Given the description of an element on the screen output the (x, y) to click on. 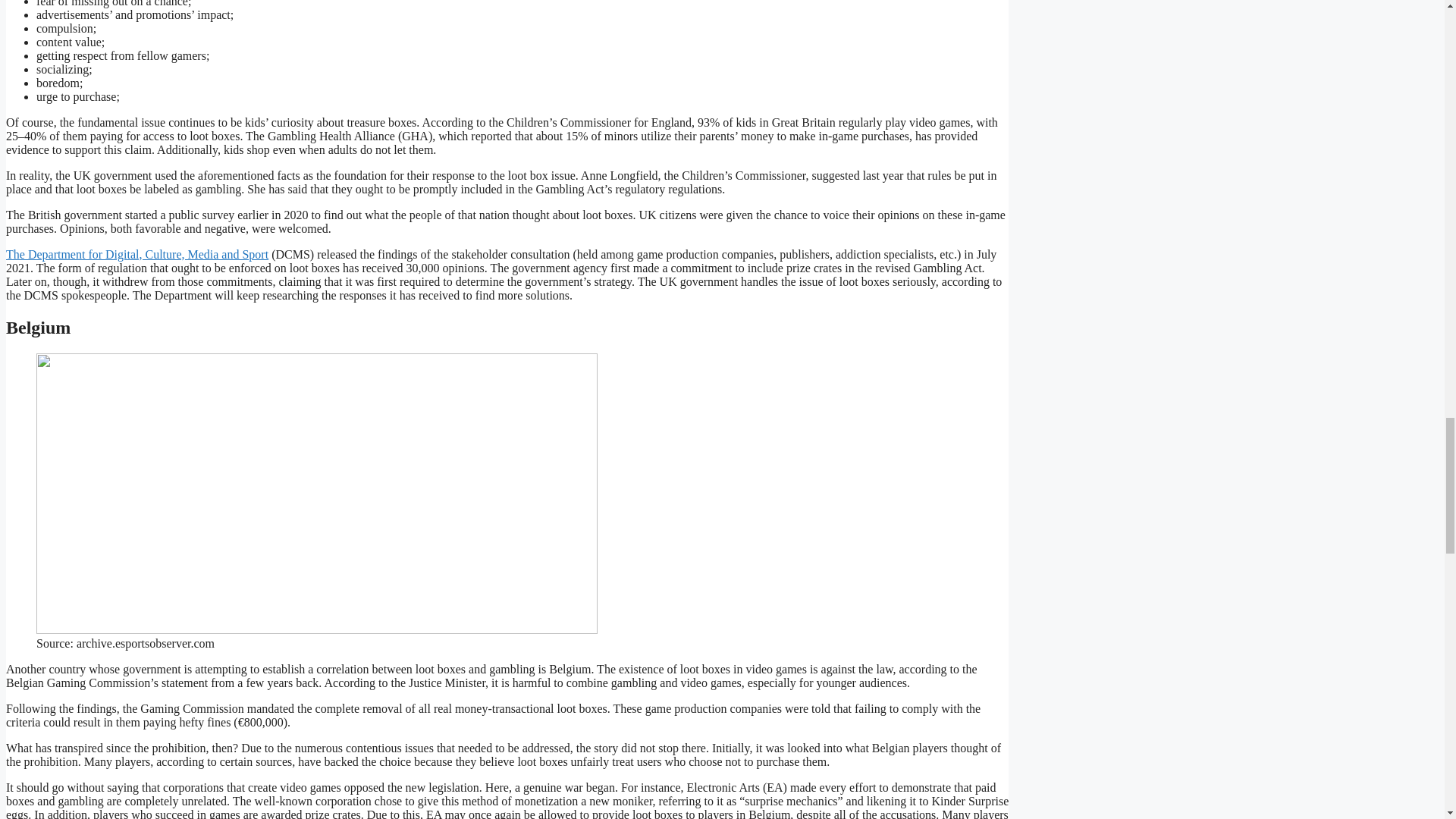
The Department for Digital, Culture, Media and Sport (136, 254)
